Given the description of an element on the screen output the (x, y) to click on. 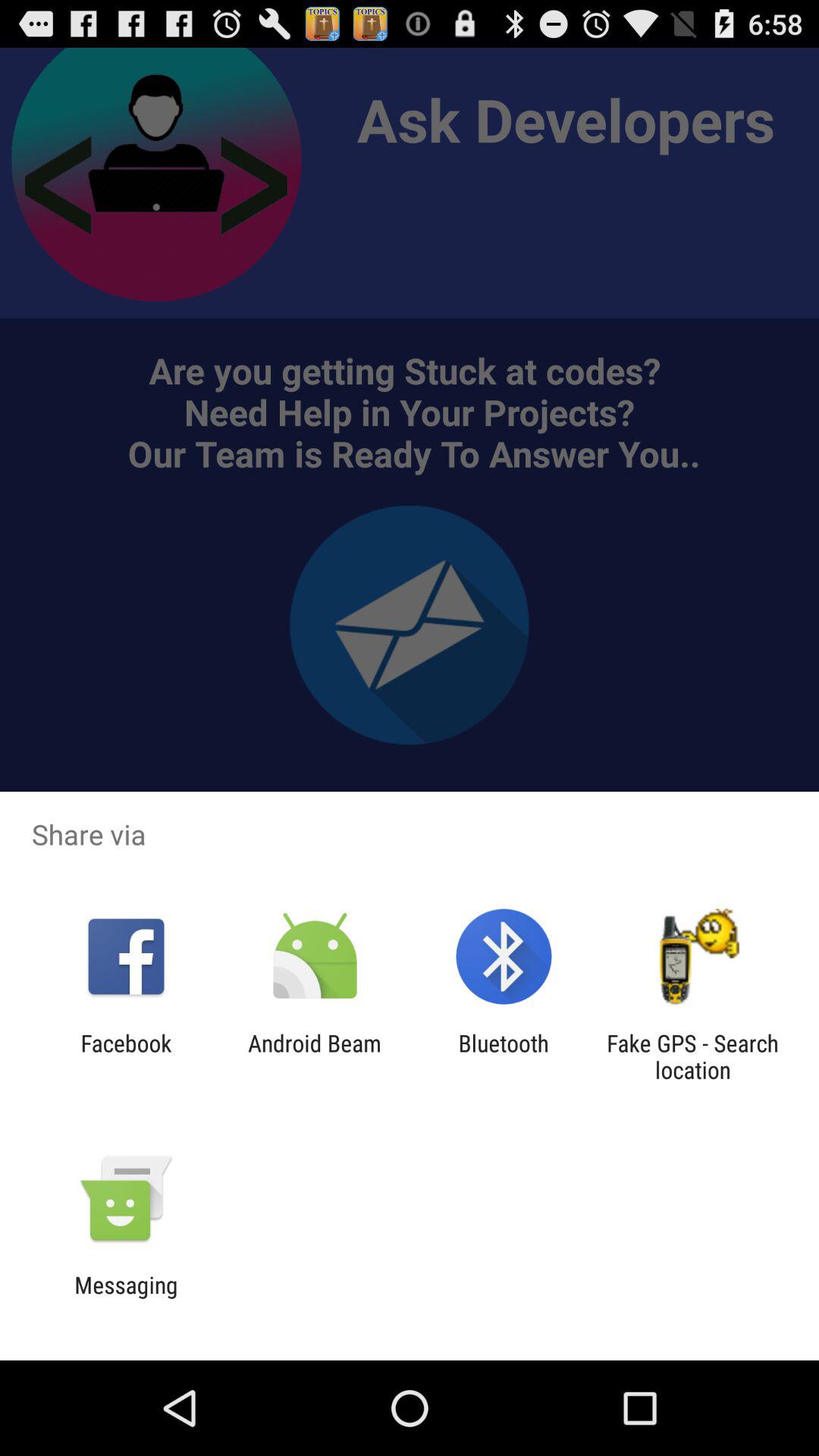
flip until the fake gps search (692, 1056)
